Given the description of an element on the screen output the (x, y) to click on. 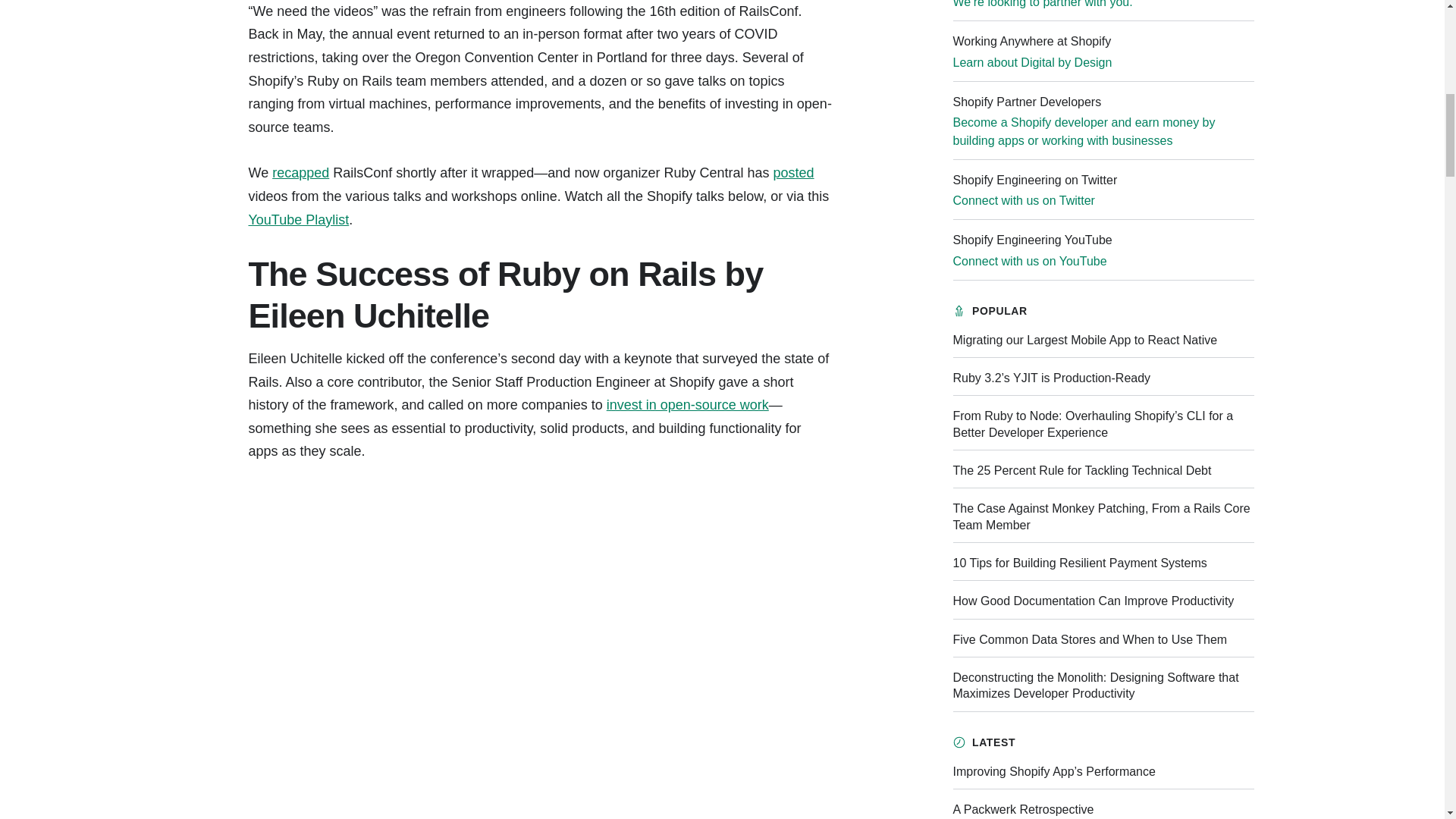
recapped (300, 172)
posted (793, 172)
YouTube Playlist (298, 219)
invest in open-source work (687, 404)
